Given the description of an element on the screen output the (x, y) to click on. 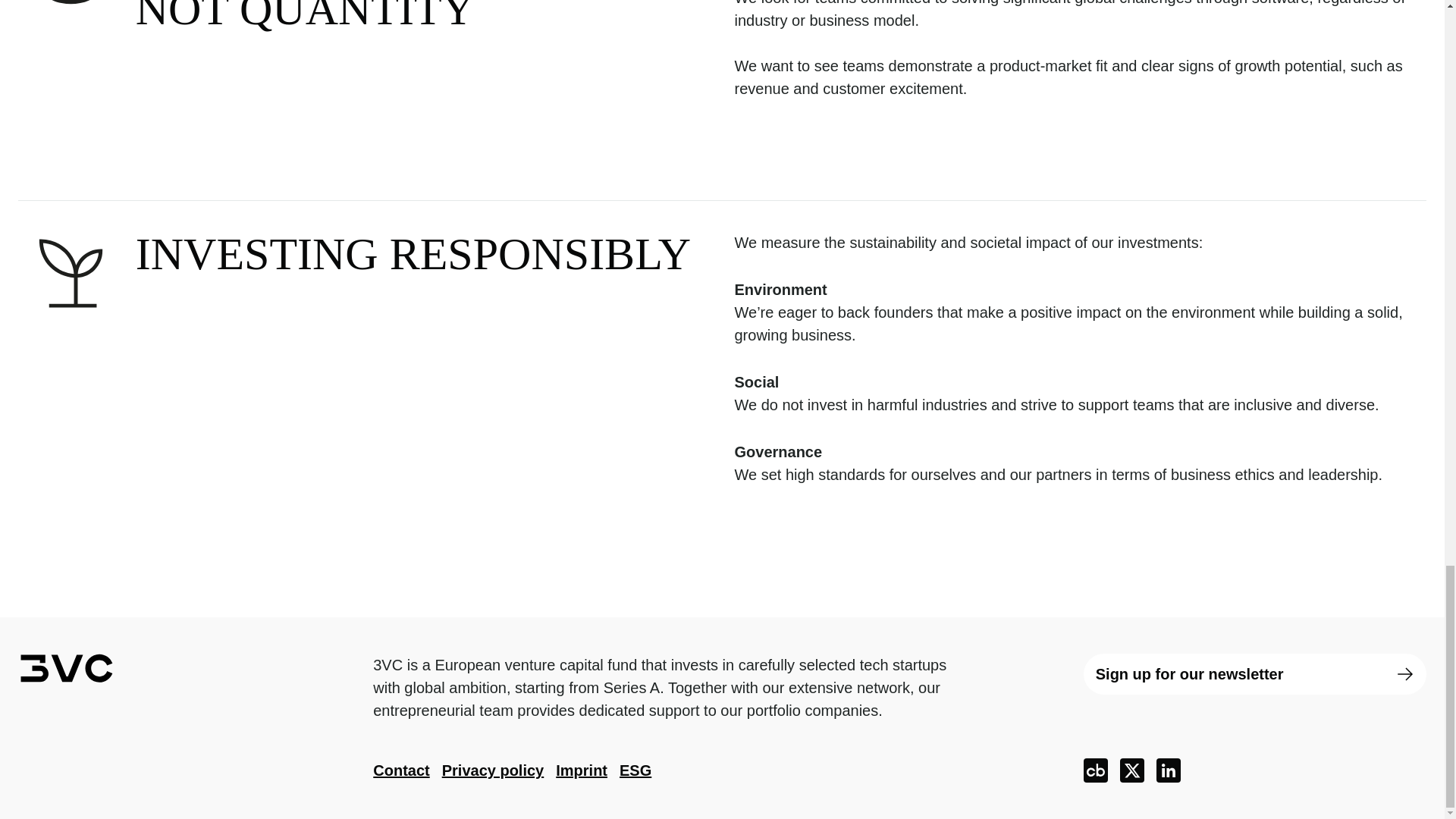
3VC (66, 667)
crunchbase (1095, 770)
ESG (635, 770)
X (1131, 770)
Imprint (581, 770)
Sign up for our newsletter (1254, 673)
Contact (400, 770)
Privacy policy (493, 770)
LinkedIn (1168, 770)
